Given the description of an element on the screen output the (x, y) to click on. 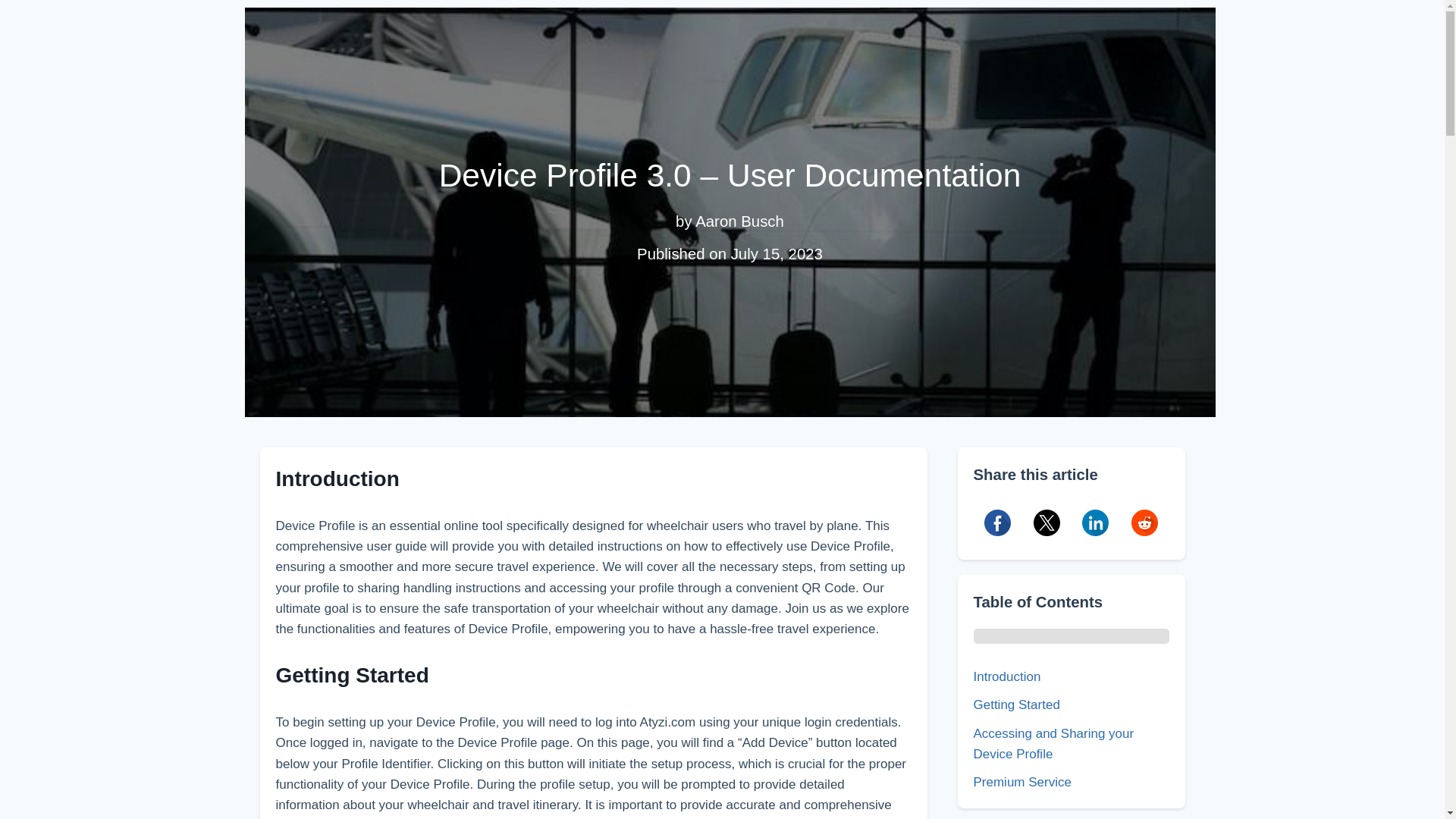
Premium Service (1071, 782)
Introduction (1071, 676)
Accessing and Sharing your Device Profile (1071, 743)
Getting Started (1071, 704)
